Given the description of an element on the screen output the (x, y) to click on. 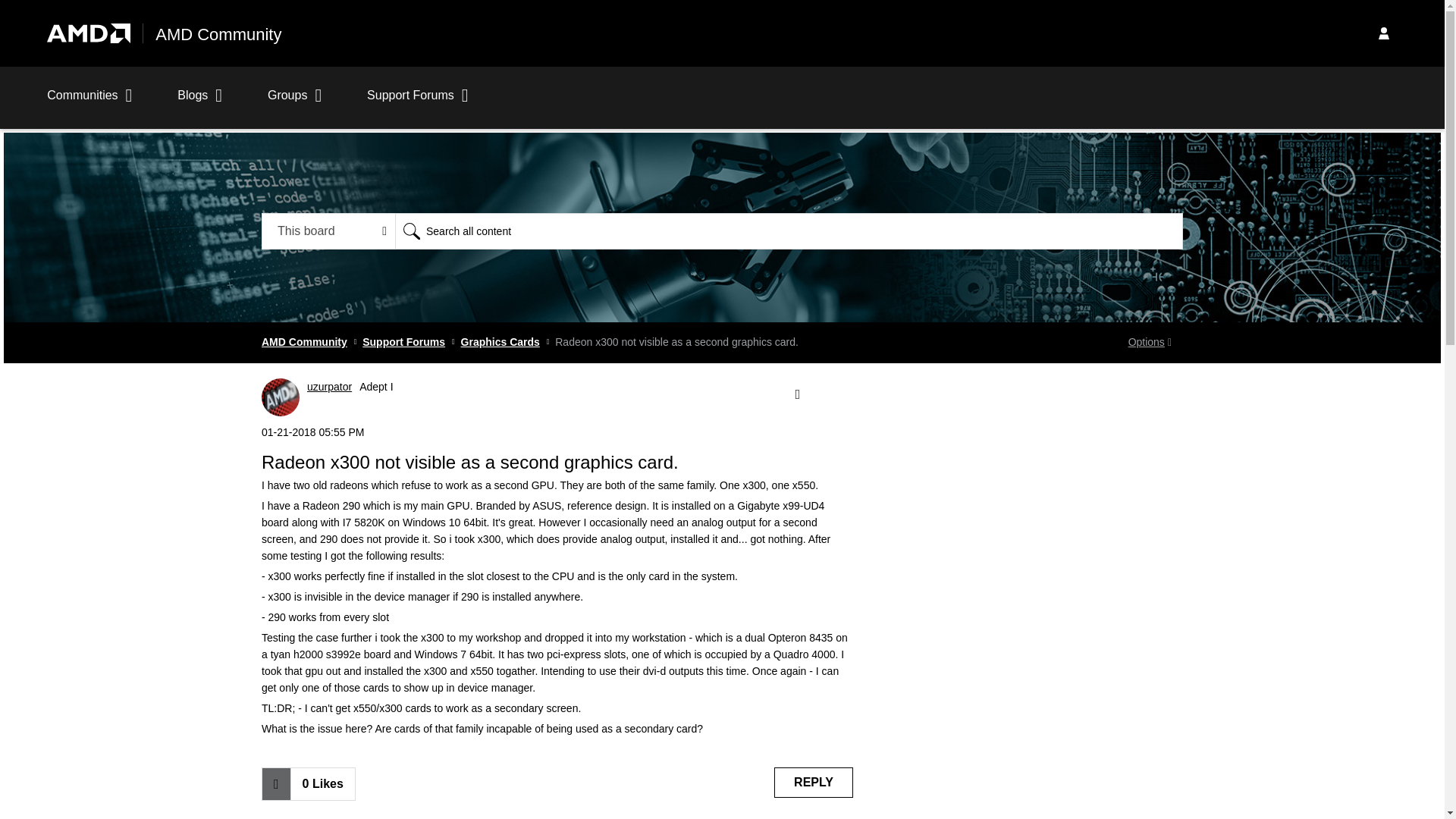
AMD Community (218, 34)
Show option menu (796, 394)
Blogs (199, 103)
Posted on (557, 432)
Communities (89, 103)
Search (788, 230)
AMD Logo (88, 32)
Show option menu (1149, 342)
Sign In (1383, 32)
Search (411, 230)
